Given the description of an element on the screen output the (x, y) to click on. 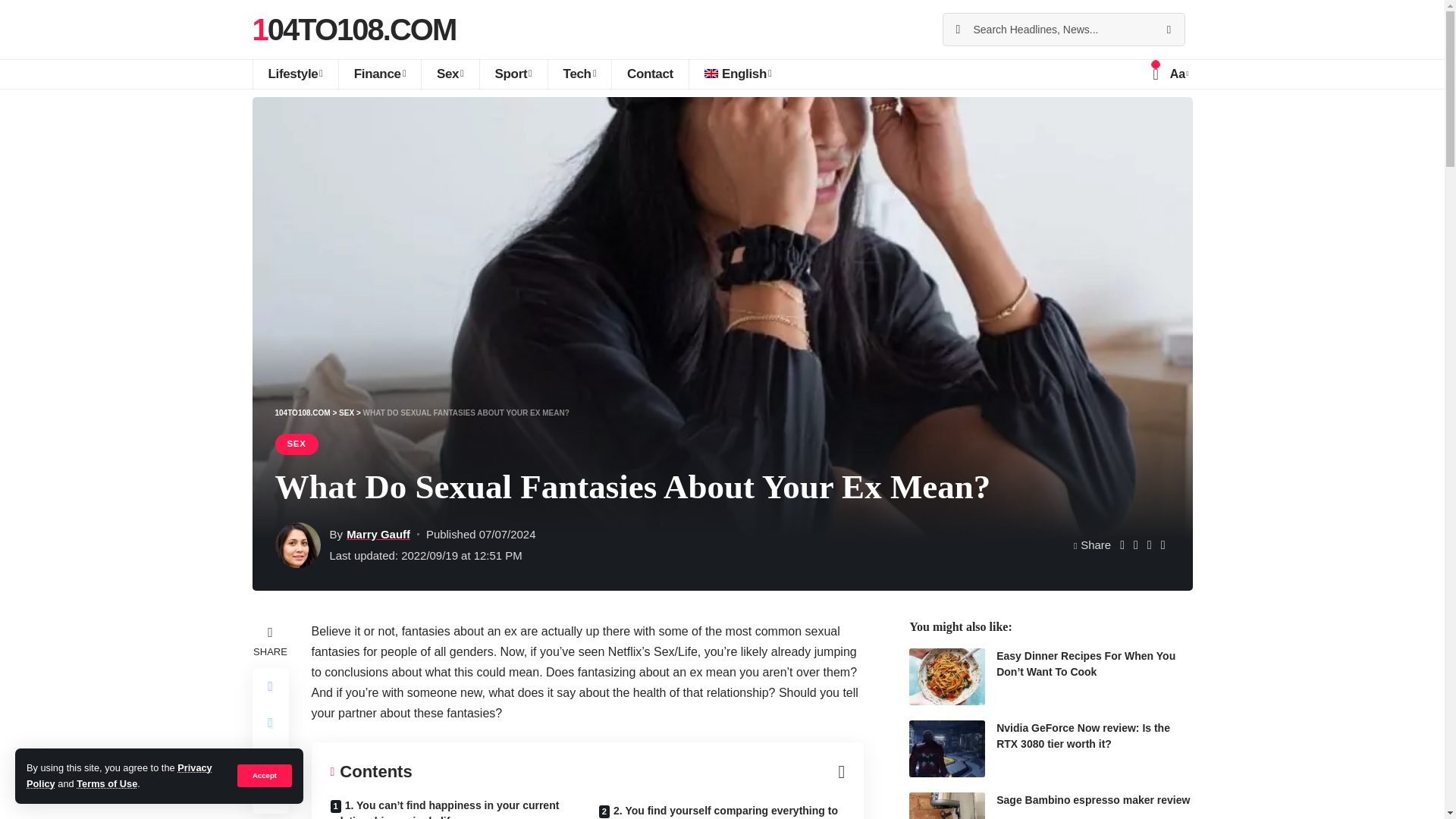
Terms of Use (106, 783)
Lifestyle (294, 73)
Sex (449, 73)
Accept (264, 775)
104TO108.COM (353, 29)
104to108.com (353, 29)
Privacy Policy (119, 775)
Finance (378, 73)
Search (1168, 29)
